Given the description of an element on the screen output the (x, y) to click on. 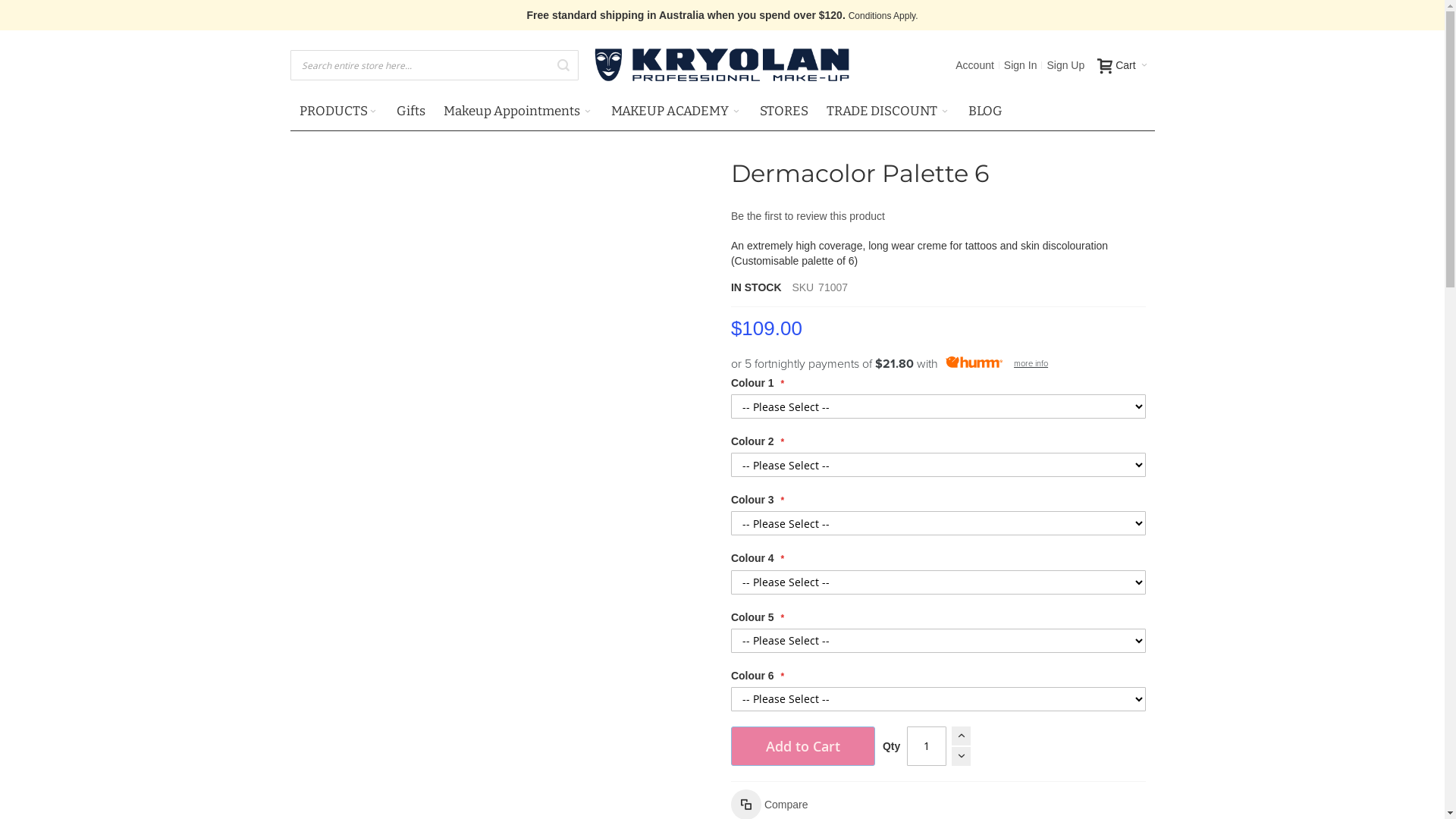
Kryolan Professional Make-Up Australia Element type: hover (721, 64)
Gifts Element type: text (409, 111)
Sign In Element type: text (1020, 64)
or 5 fortnightly payments of $21.80 with more info Element type: text (938, 362)
STORES Element type: text (783, 111)
Qty Element type: hover (926, 745)
Search Element type: hover (563, 64)
BLOG Element type: text (984, 111)
Be the first to review this product Element type: text (807, 216)
TRADE DISCOUNT Element type: text (888, 111)
Add to Cart Element type: text (803, 745)
Sign Up Element type: text (1065, 64)
MAKEUP ACADEMY Element type: text (676, 111)
Makeup Appointments Element type: text (517, 111)
PRODUCTS Element type: text (337, 111)
Account Element type: text (974, 64)
